Given the description of an element on the screen output the (x, y) to click on. 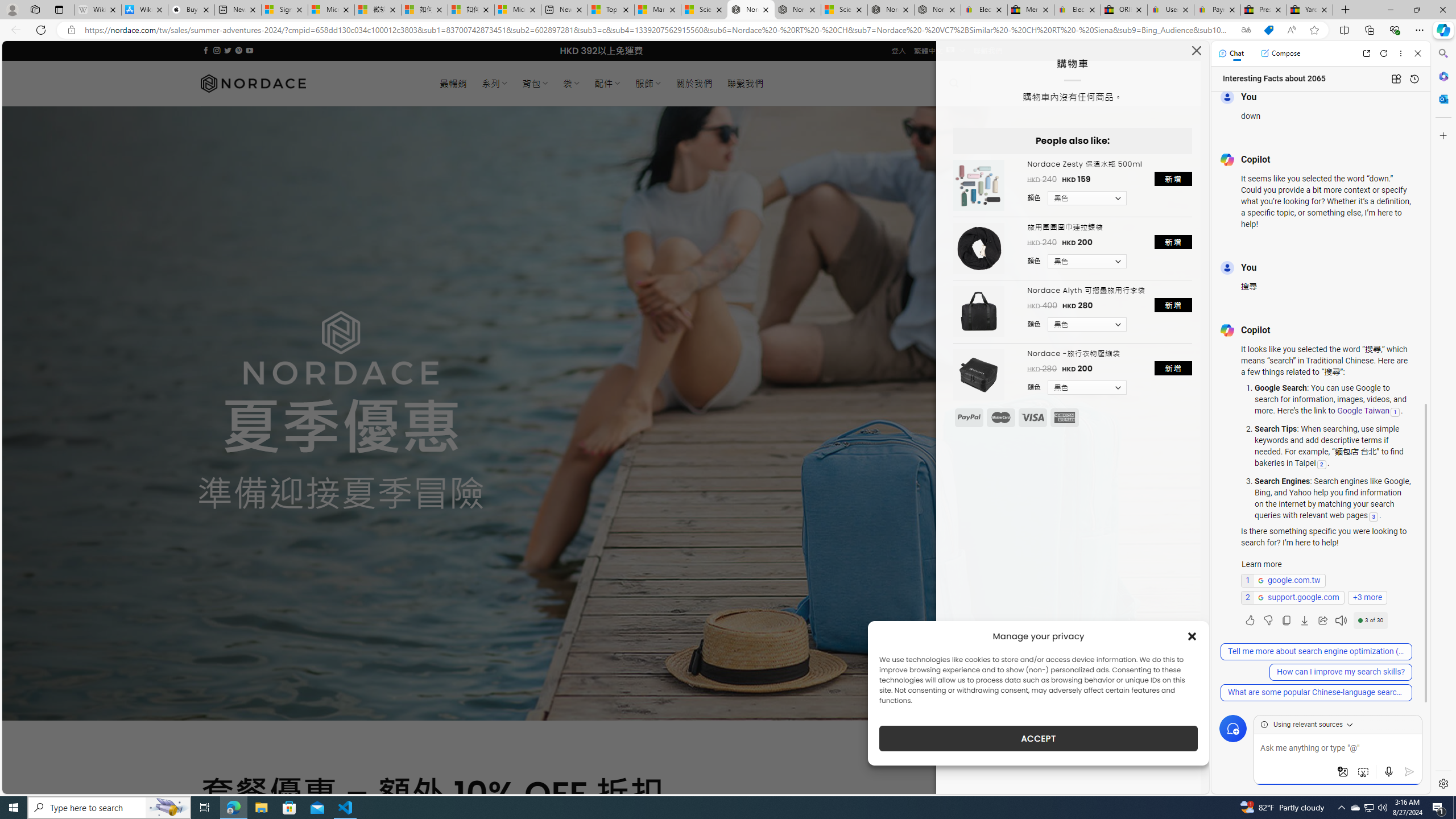
Compose (1280, 52)
 0  (988, 83)
Class: cmplz-close (1192, 636)
